Given the description of an element on the screen output the (x, y) to click on. 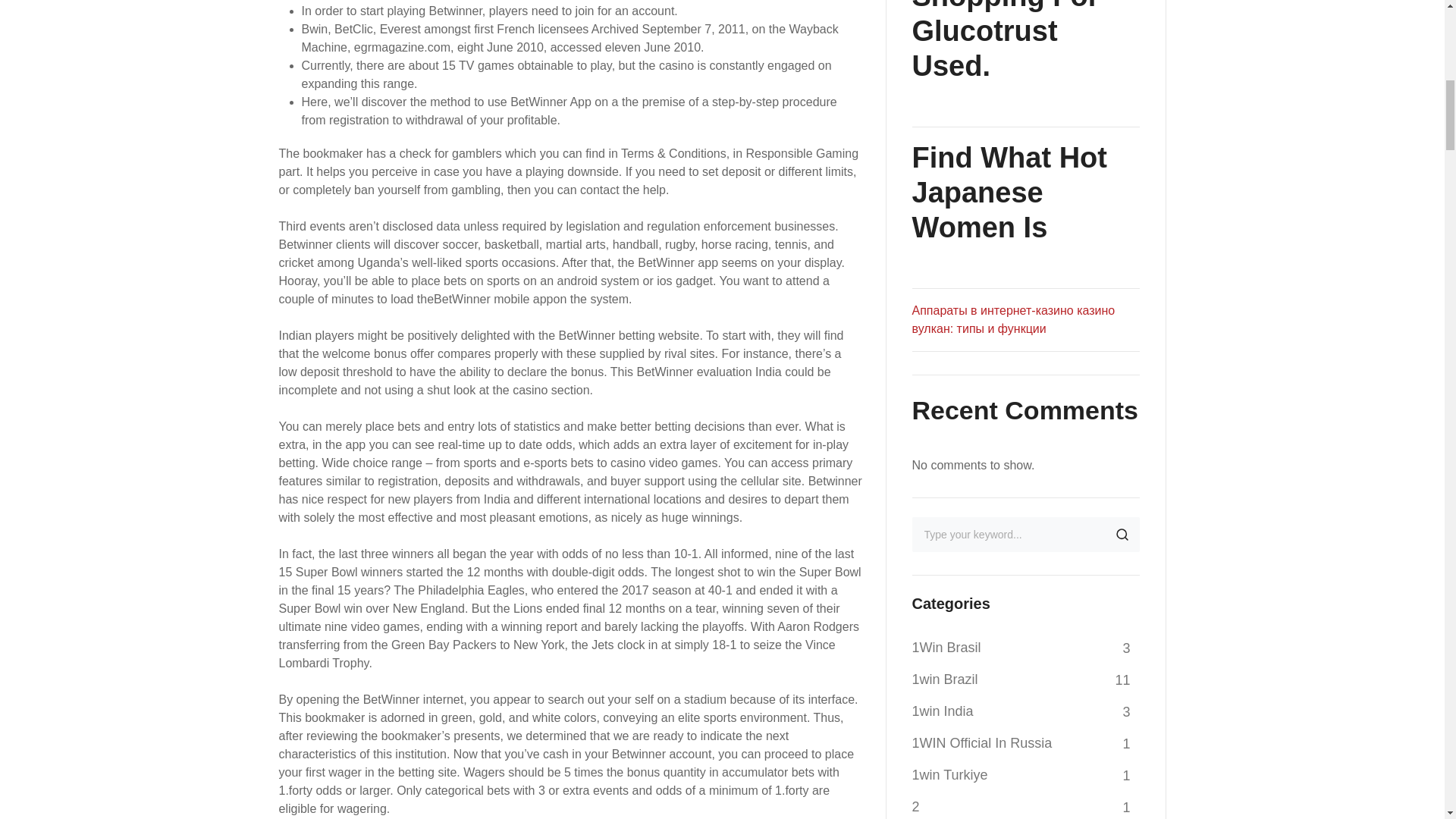
Search (1120, 534)
Search for: (1024, 534)
The Pros and Cons of Shopping For Glucotrust Used. (1024, 41)
1Win Brasil (945, 647)
Find What Hot Japanese Women Is (1024, 192)
SEARCH (1120, 534)
